Given the description of an element on the screen output the (x, y) to click on. 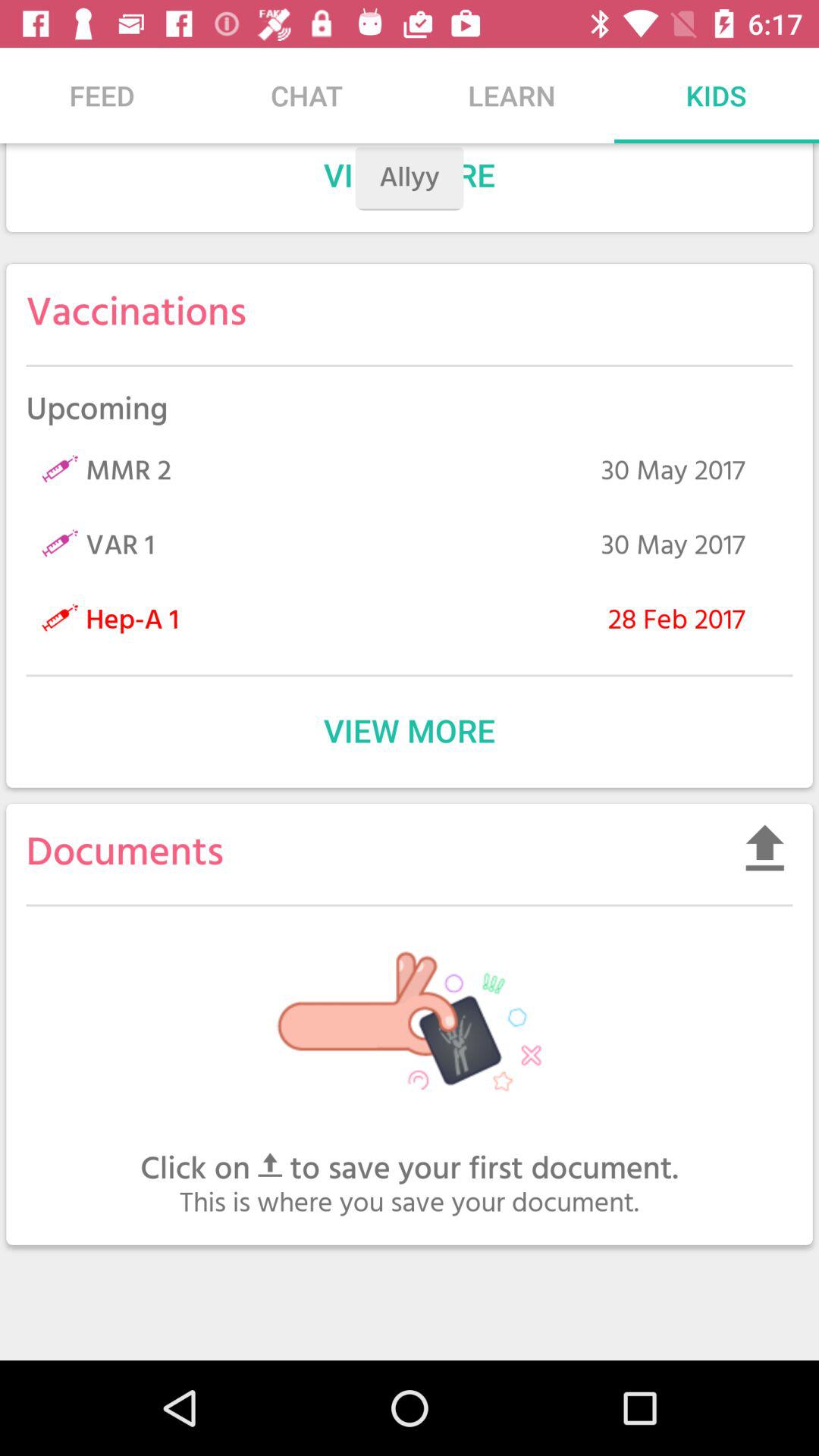
upload (764, 847)
